Given the description of an element on the screen output the (x, y) to click on. 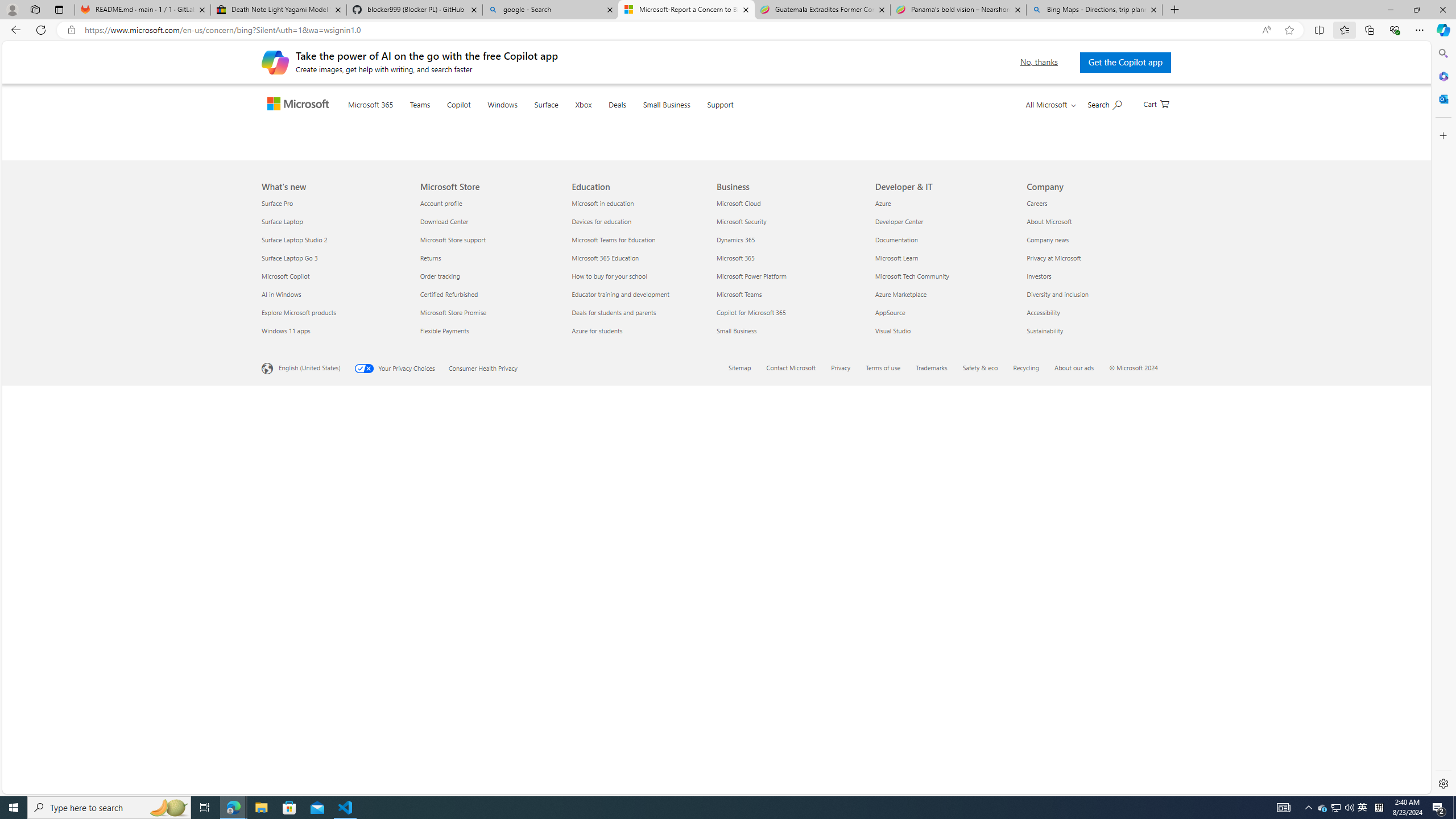
Explore Microsoft products What's new (299, 712)
Safety & eco (986, 768)
Sustainability Company (1044, 730)
Devices for education Education (601, 620)
No, thanks (1035, 61)
Safety & eco (980, 767)
Support (743, 118)
Accessibility (1095, 712)
AppSource Developer & IT (890, 712)
Sitemap (739, 767)
Microsoft Teams for Education (641, 639)
How to buy for your school Education (609, 675)
Azure for students Education (597, 730)
